Given the description of an element on the screen output the (x, y) to click on. 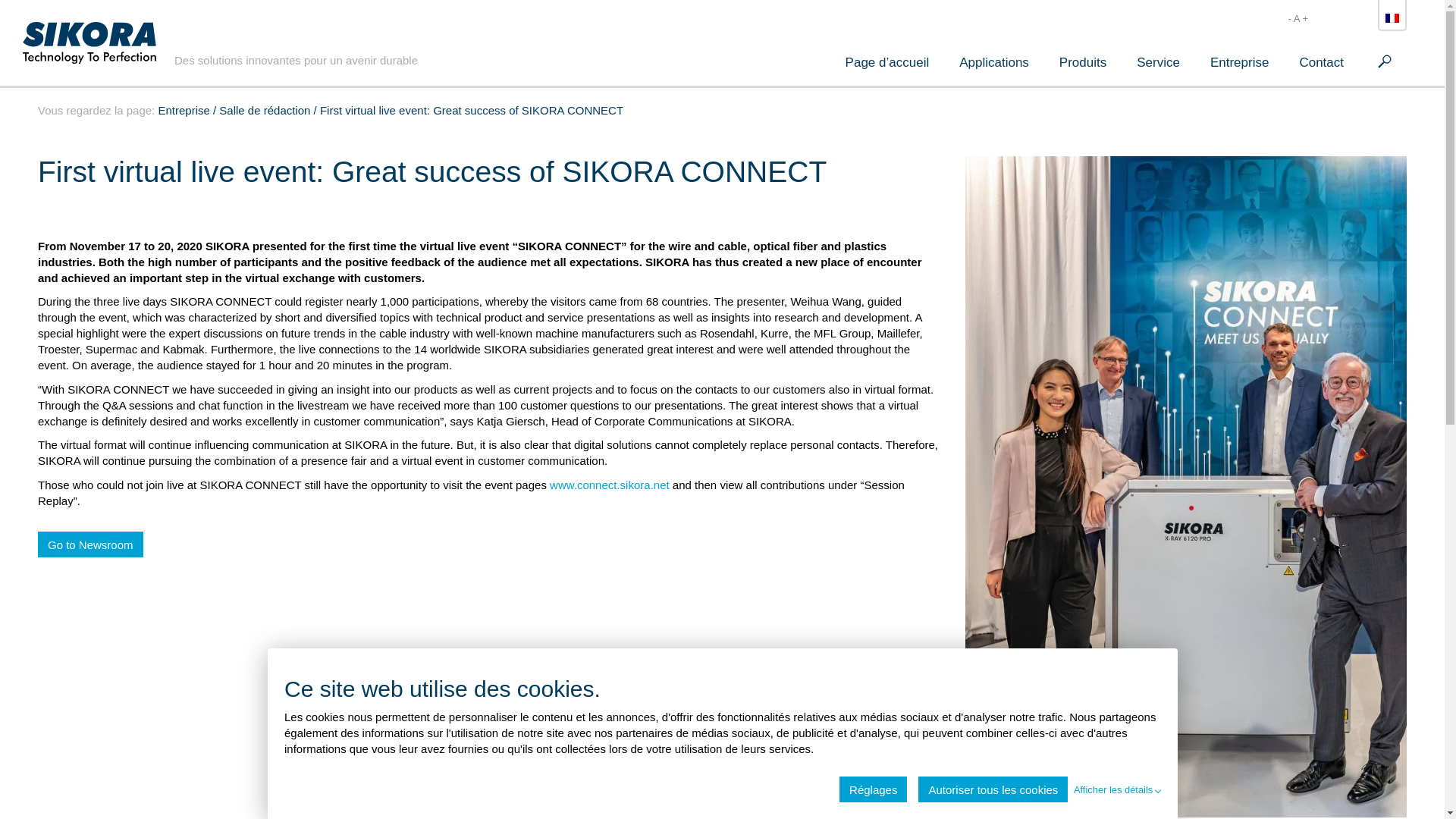
Autoriser tous les cookies (992, 789)
